Given the description of an element on the screen output the (x, y) to click on. 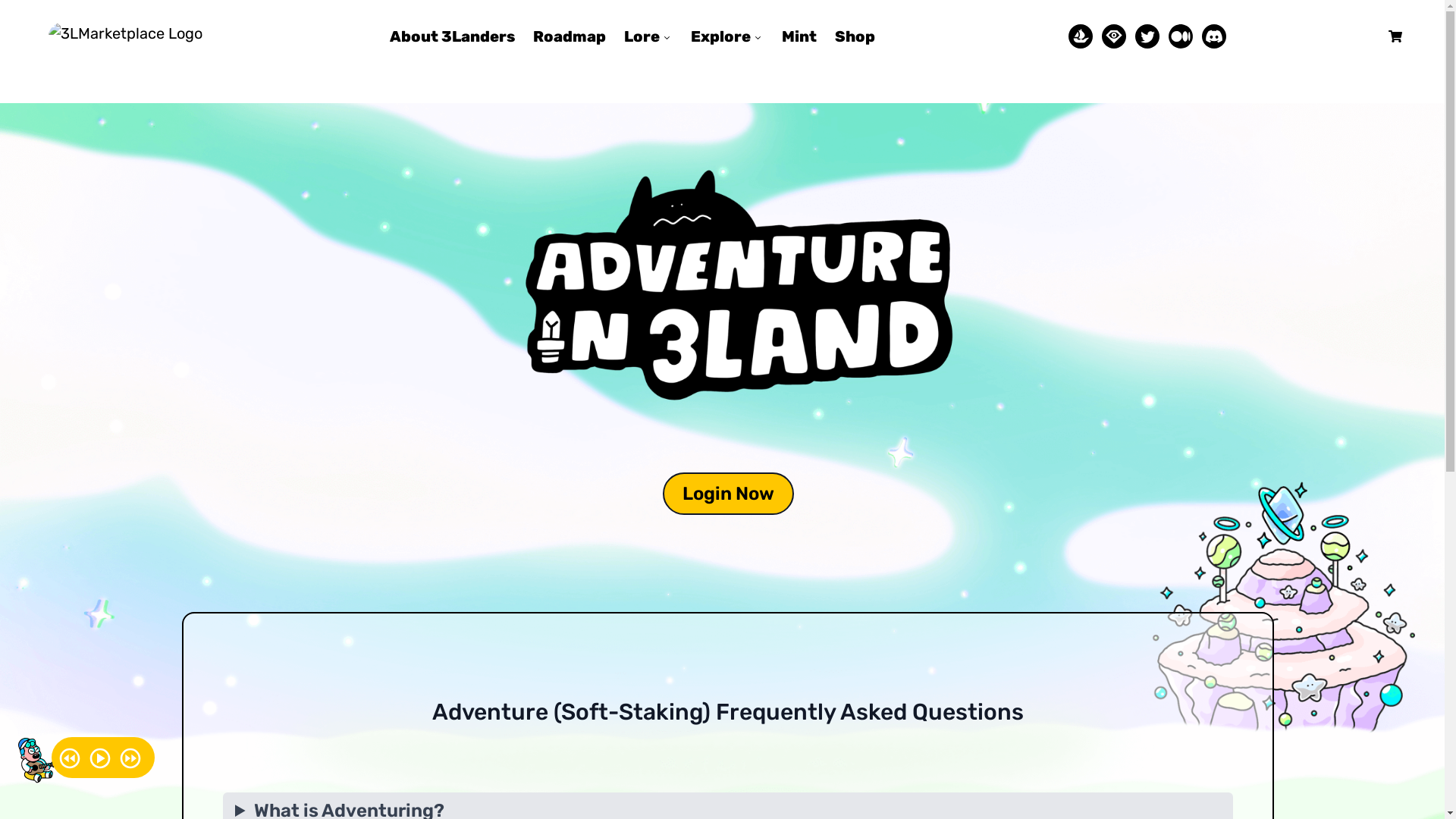
Mint Element type: text (798, 36)
Roadmap Element type: text (569, 36)
Shop Element type: text (854, 36)
Lore Element type: text (648, 36)
Login Now Element type: text (727, 493)
About 3Landers Element type: text (452, 36)
Explore Element type: text (726, 36)
